Given the description of an element on the screen output the (x, y) to click on. 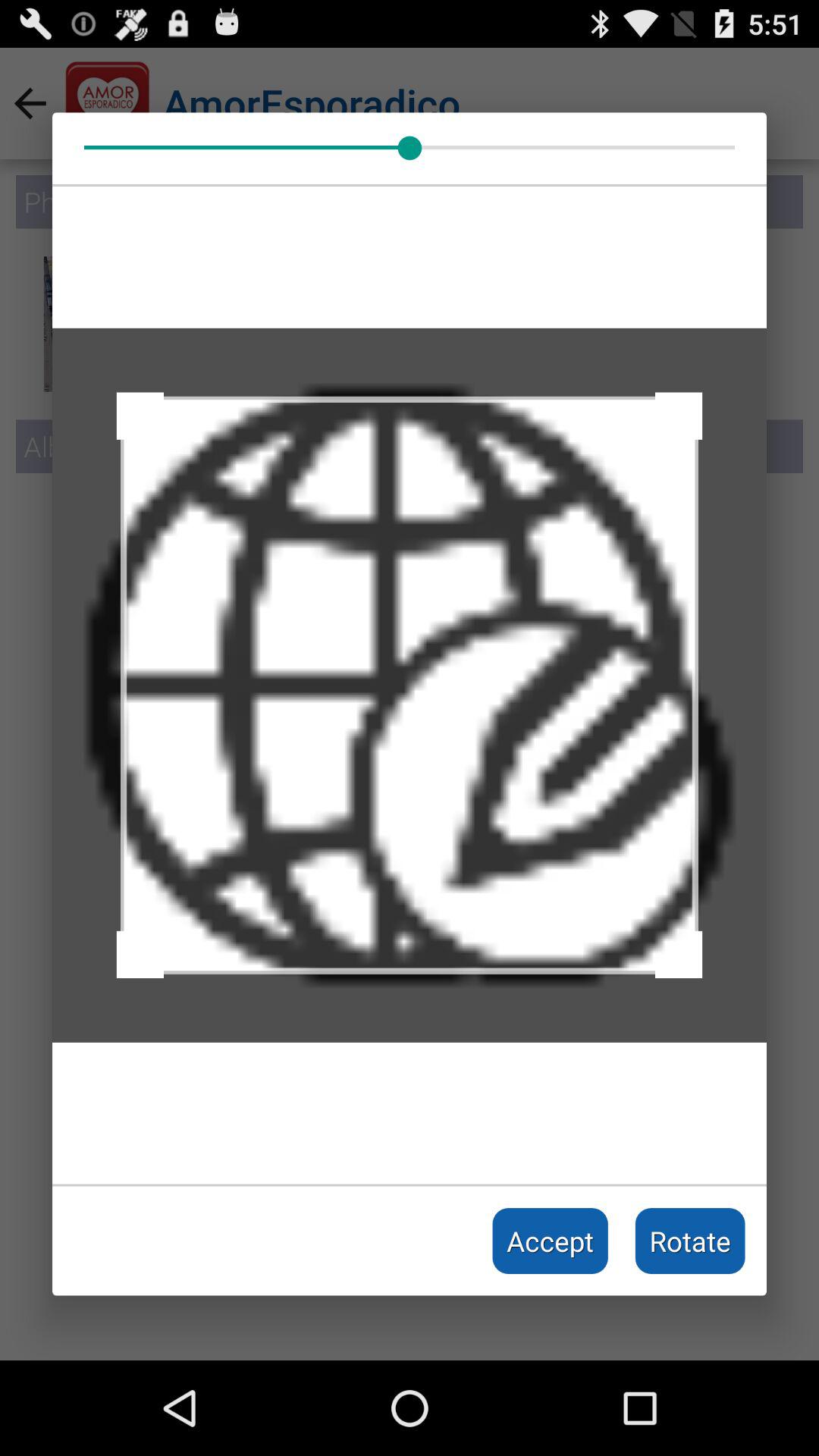
swipe until accept (549, 1240)
